Given the description of an element on the screen output the (x, y) to click on. 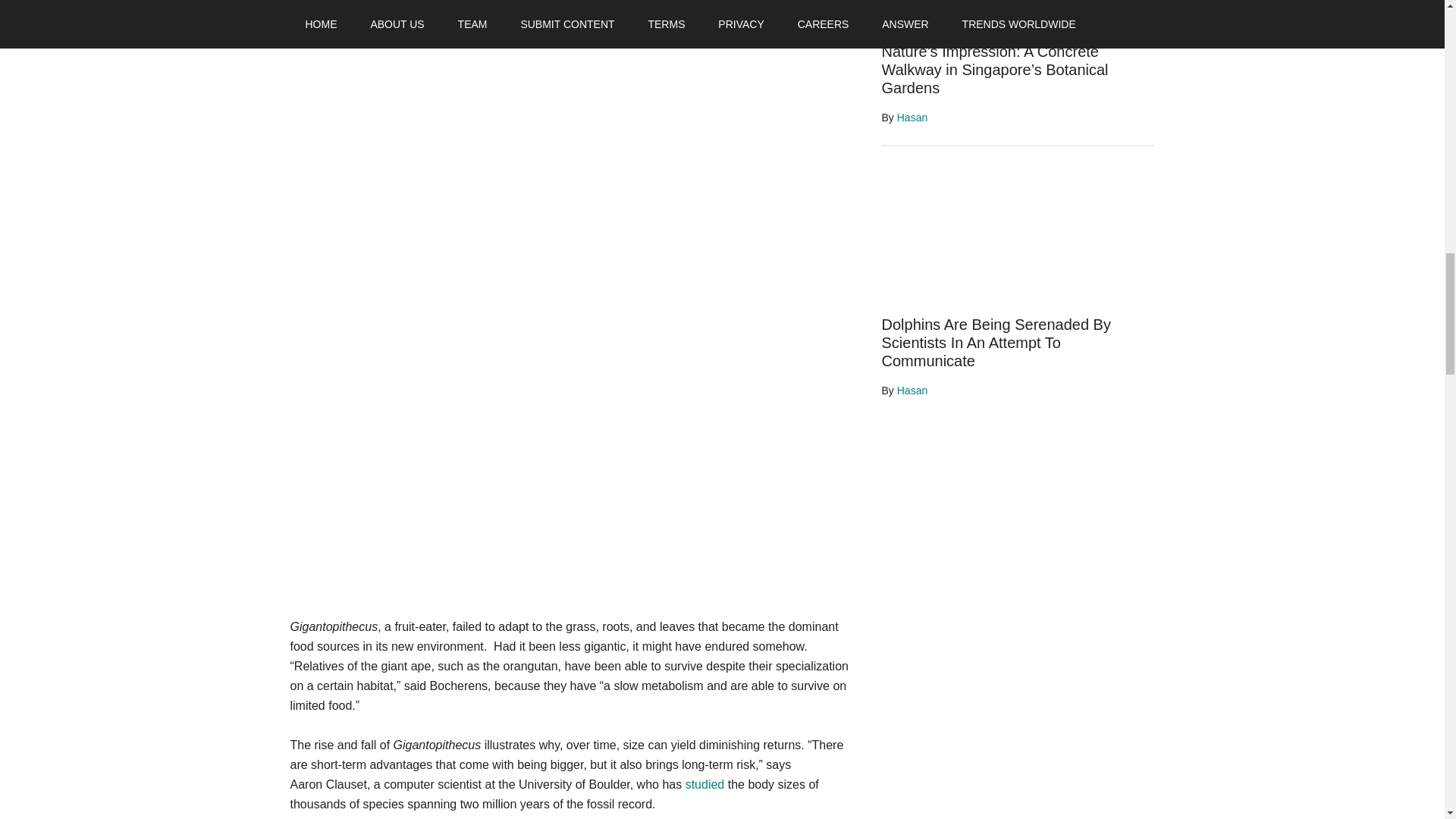
studied (705, 784)
